Given the description of an element on the screen output the (x, y) to click on. 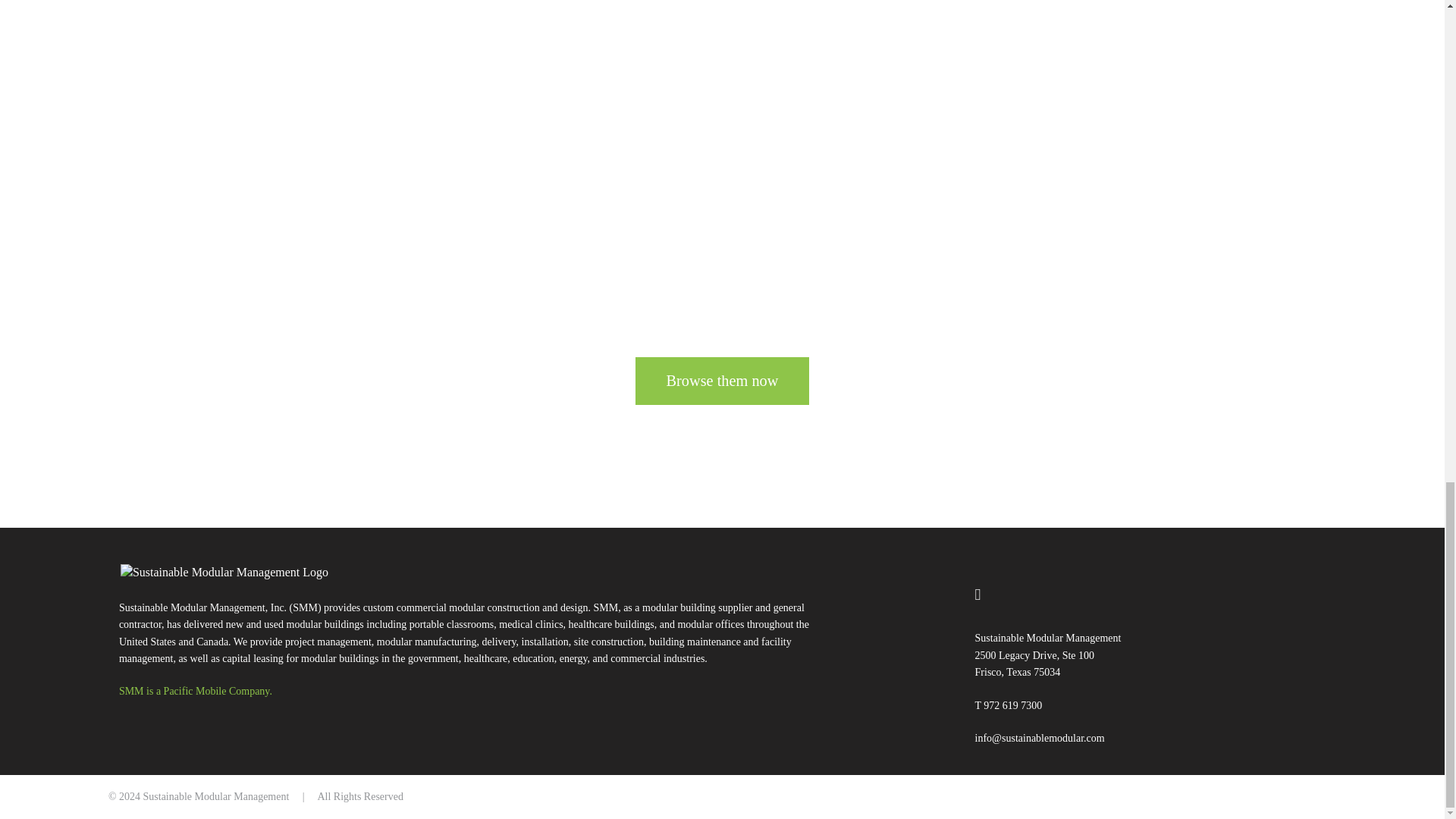
Browse them now (721, 381)
